Given the description of an element on the screen output the (x, y) to click on. 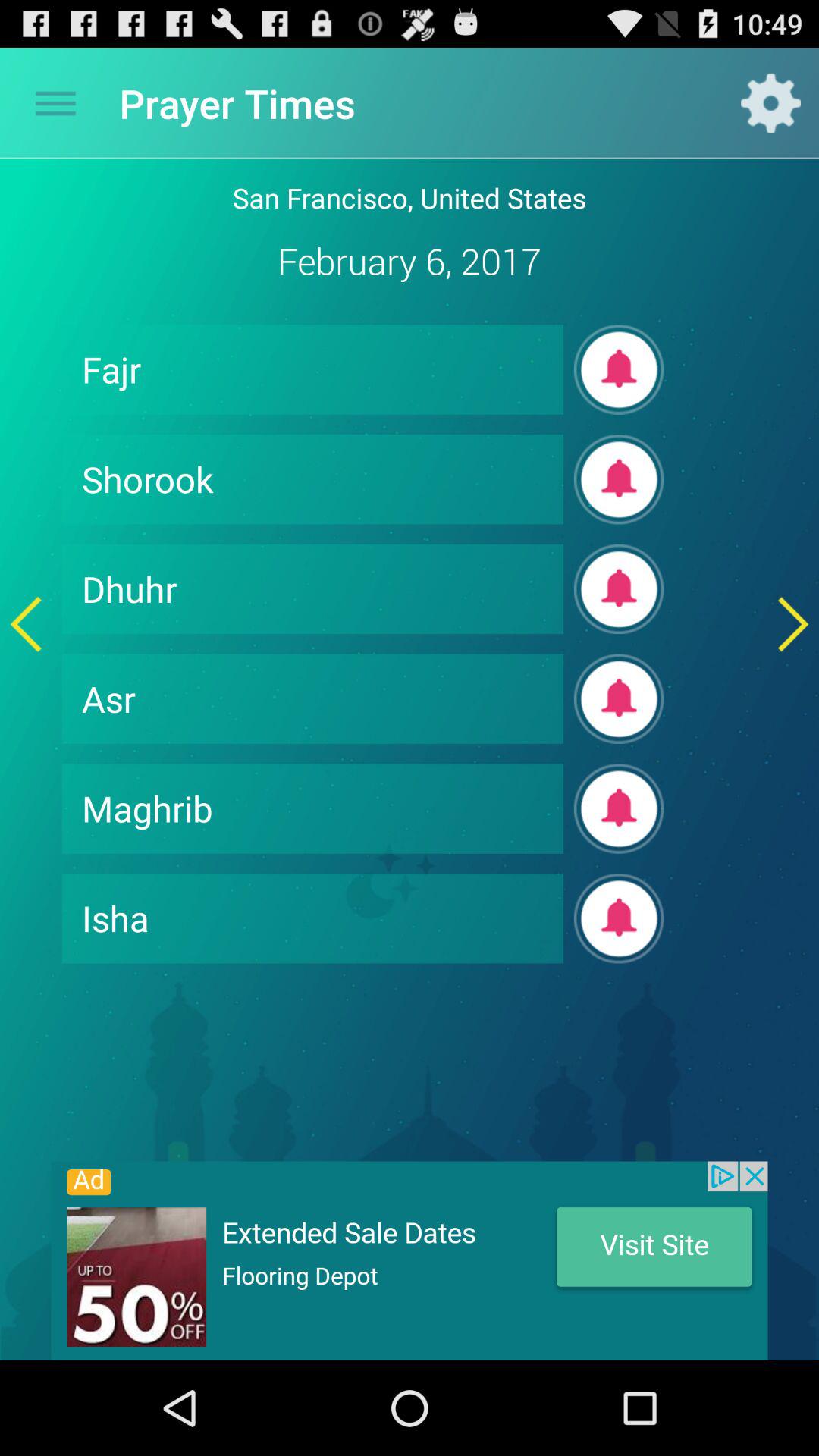
click to subscribe (618, 369)
